Given the description of an element on the screen output the (x, y) to click on. 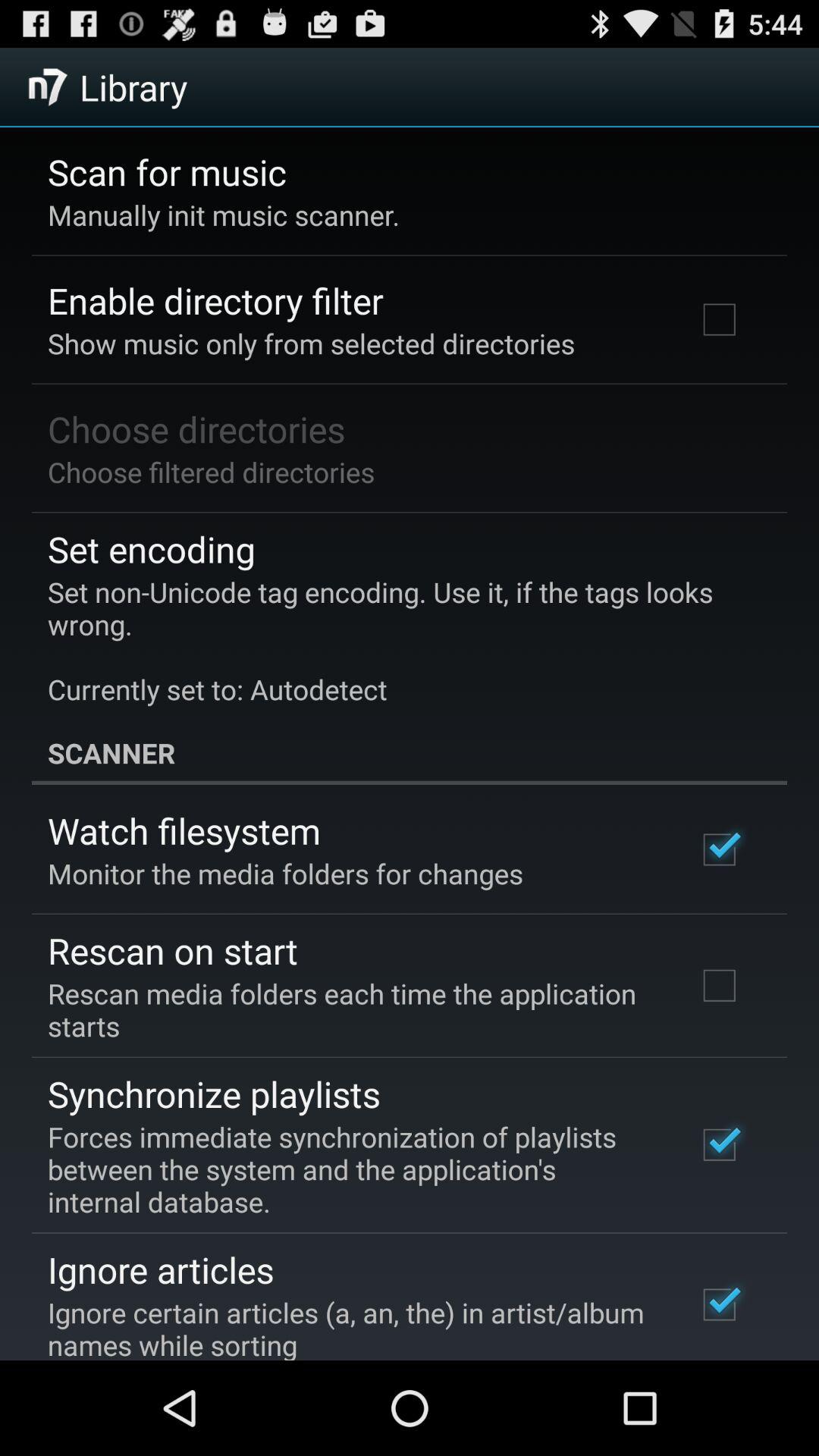
tap the item below monitor the media icon (172, 950)
